Given the description of an element on the screen output the (x, y) to click on. 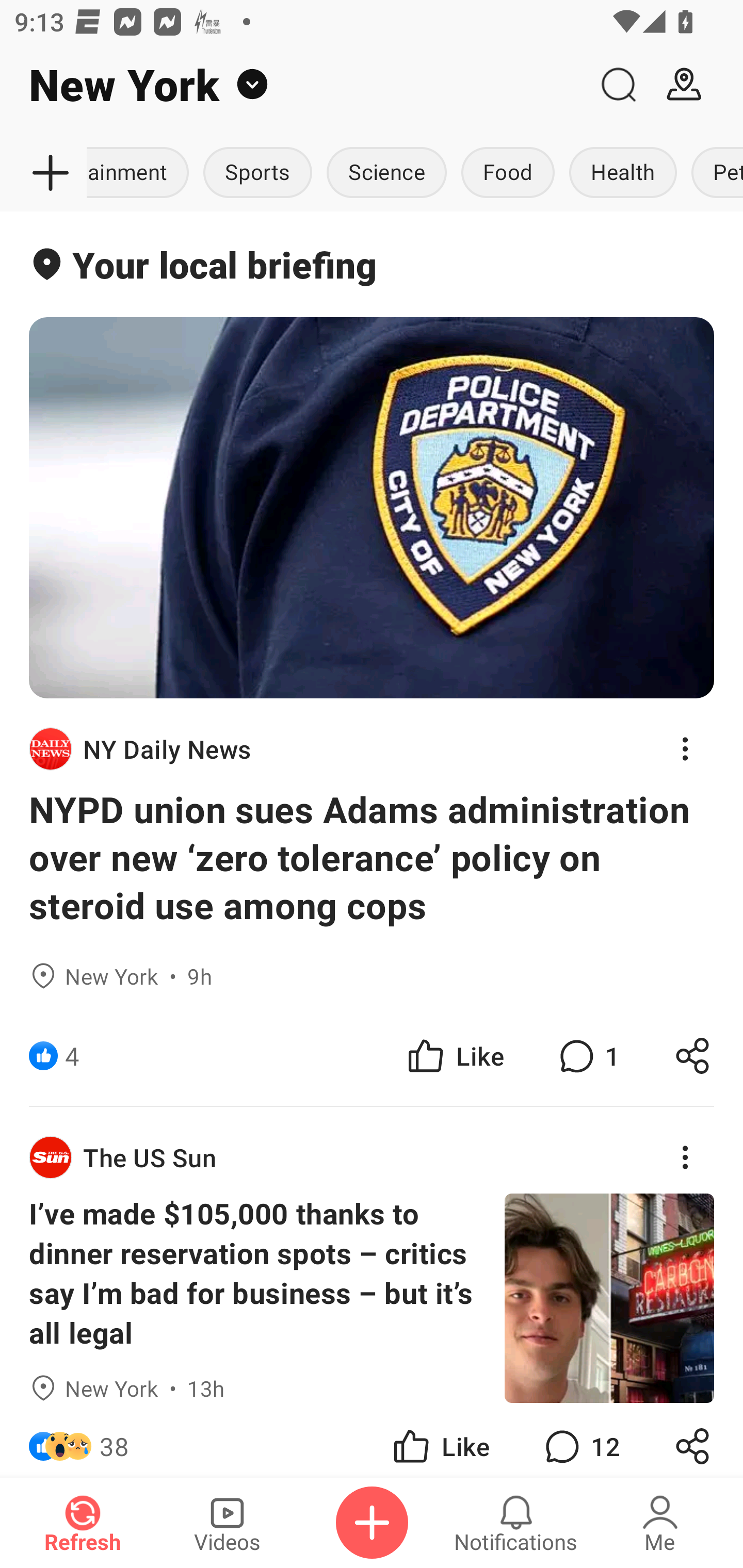
New York (292, 84)
Entertainment (141, 172)
Sports (257, 172)
Science (386, 172)
Food (507, 172)
Health (622, 172)
4 (72, 1055)
Like (454, 1055)
1 (587, 1055)
38 (114, 1440)
Like (439, 1440)
12 (579, 1440)
Videos (227, 1522)
Notifications (516, 1522)
Me (659, 1522)
